Given the description of an element on the screen output the (x, y) to click on. 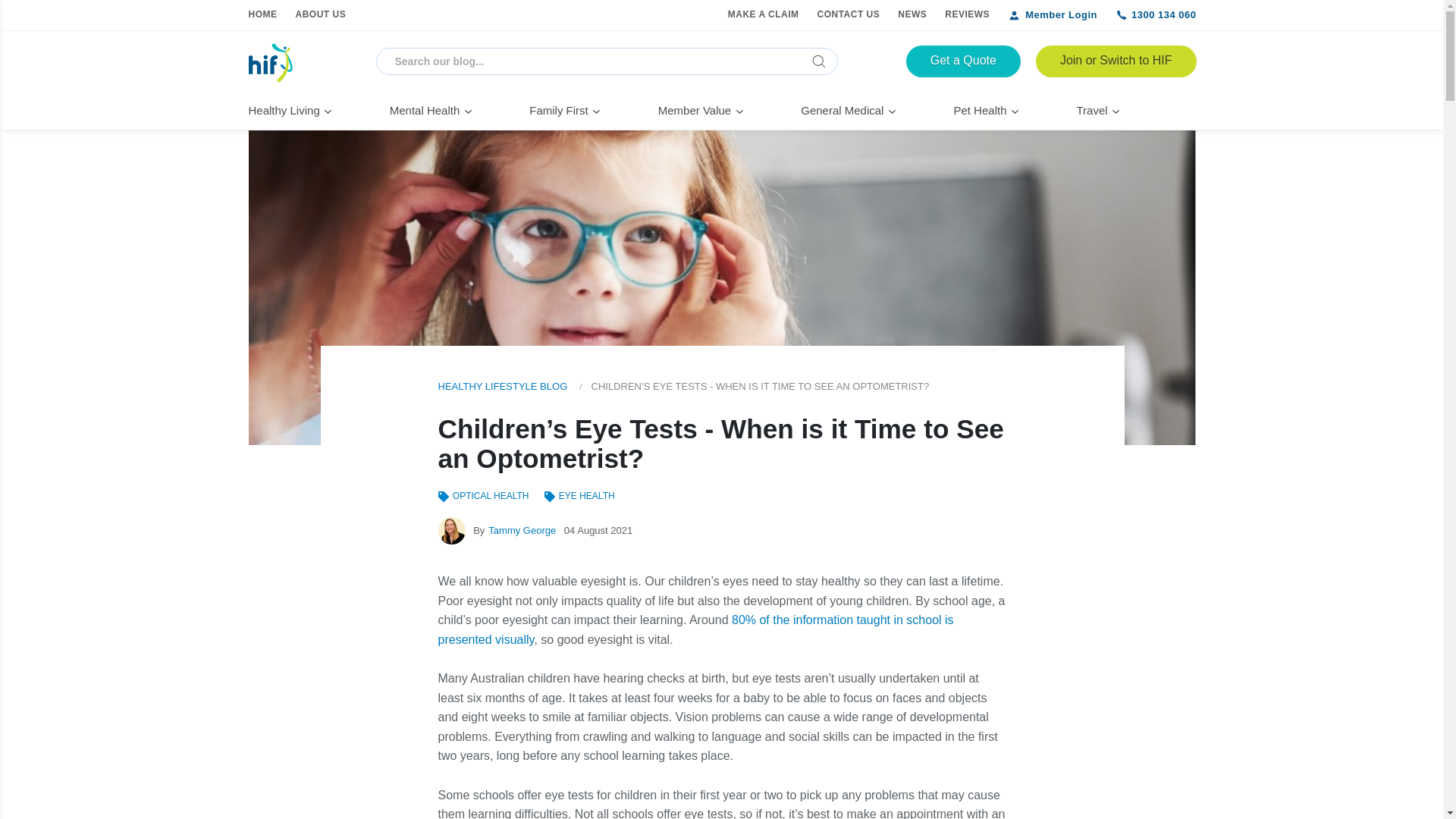
Search (818, 61)
Healthy Living (292, 110)
Search our blog... (606, 61)
General Medical (849, 110)
04 August 2021 (597, 530)
Mental Health (433, 110)
Family First (567, 110)
Member Value (703, 110)
